Given the description of an element on the screen output the (x, y) to click on. 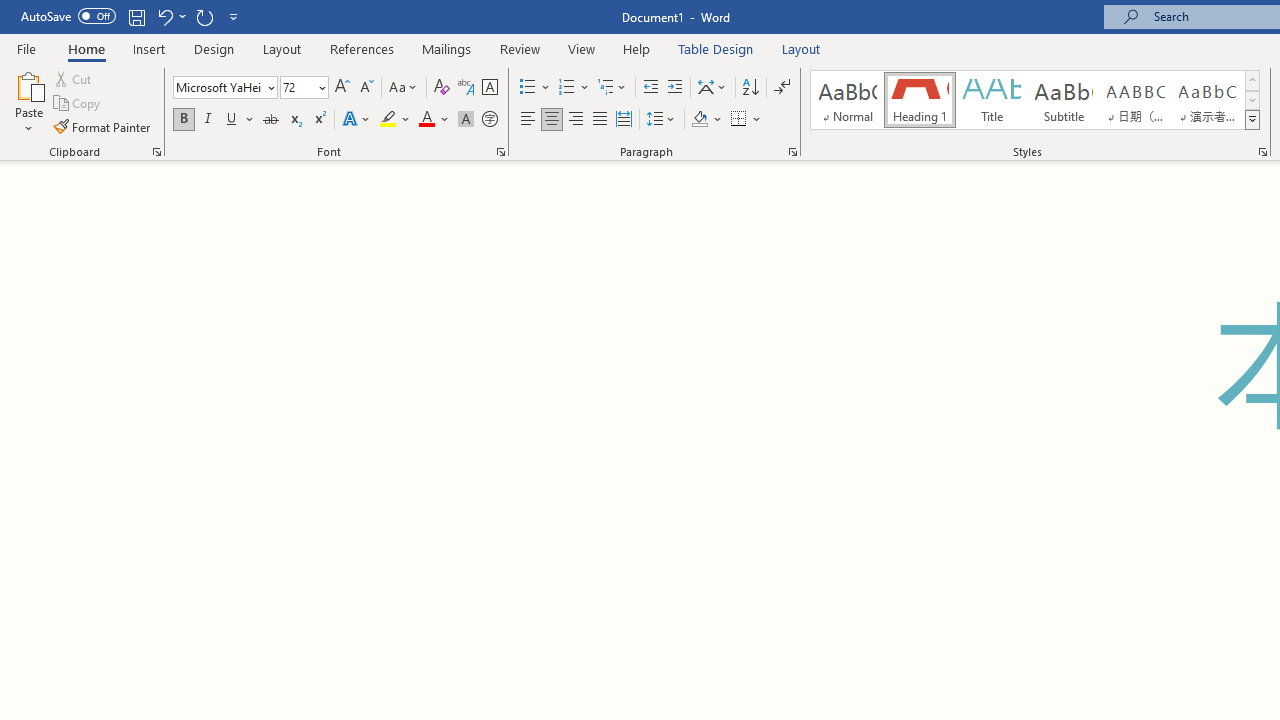
Undo Grow Font (164, 15)
Undo Grow Font (170, 15)
